Given the description of an element on the screen output the (x, y) to click on. 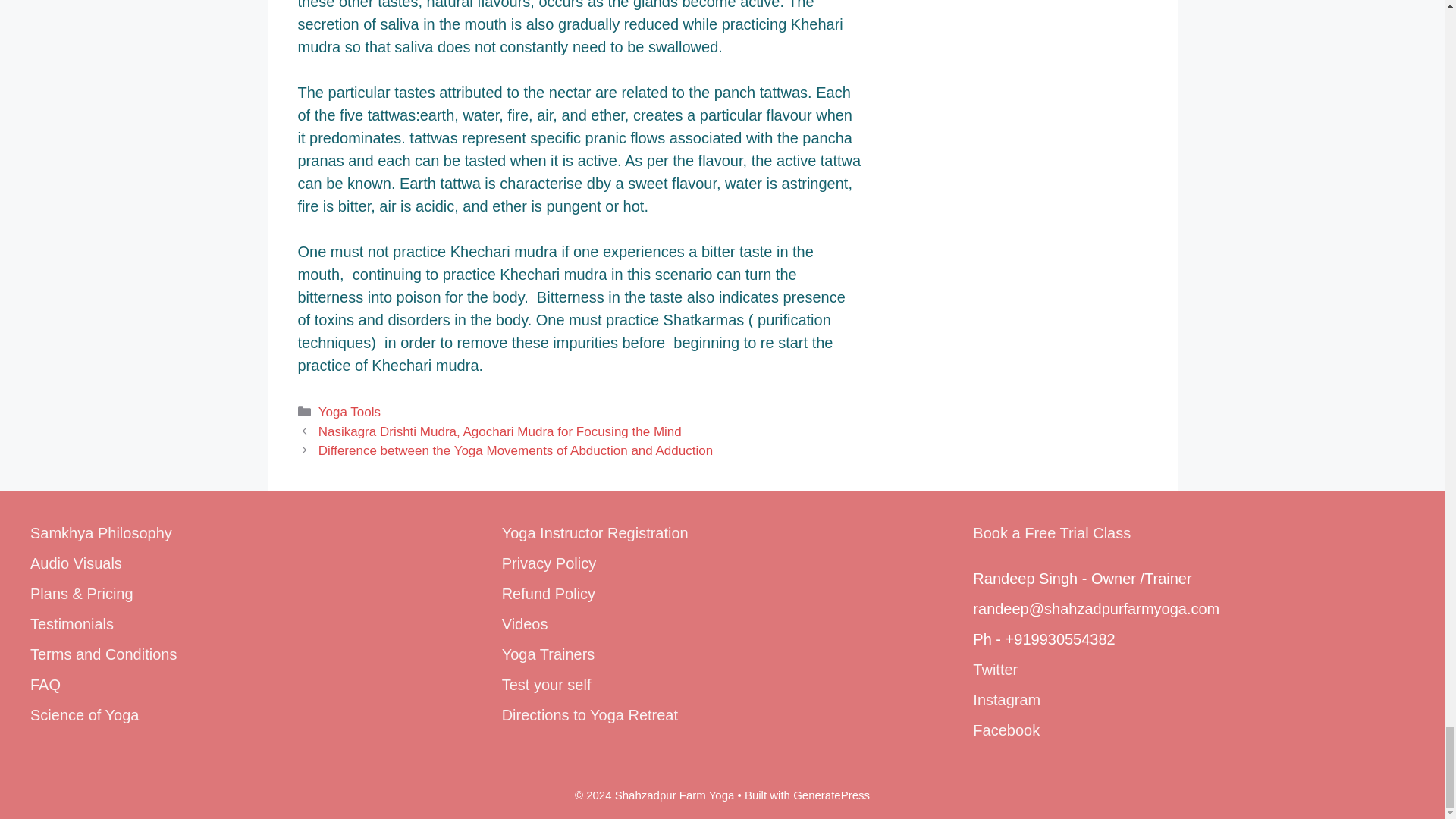
Yoga Tools (349, 411)
